Given the description of an element on the screen output the (x, y) to click on. 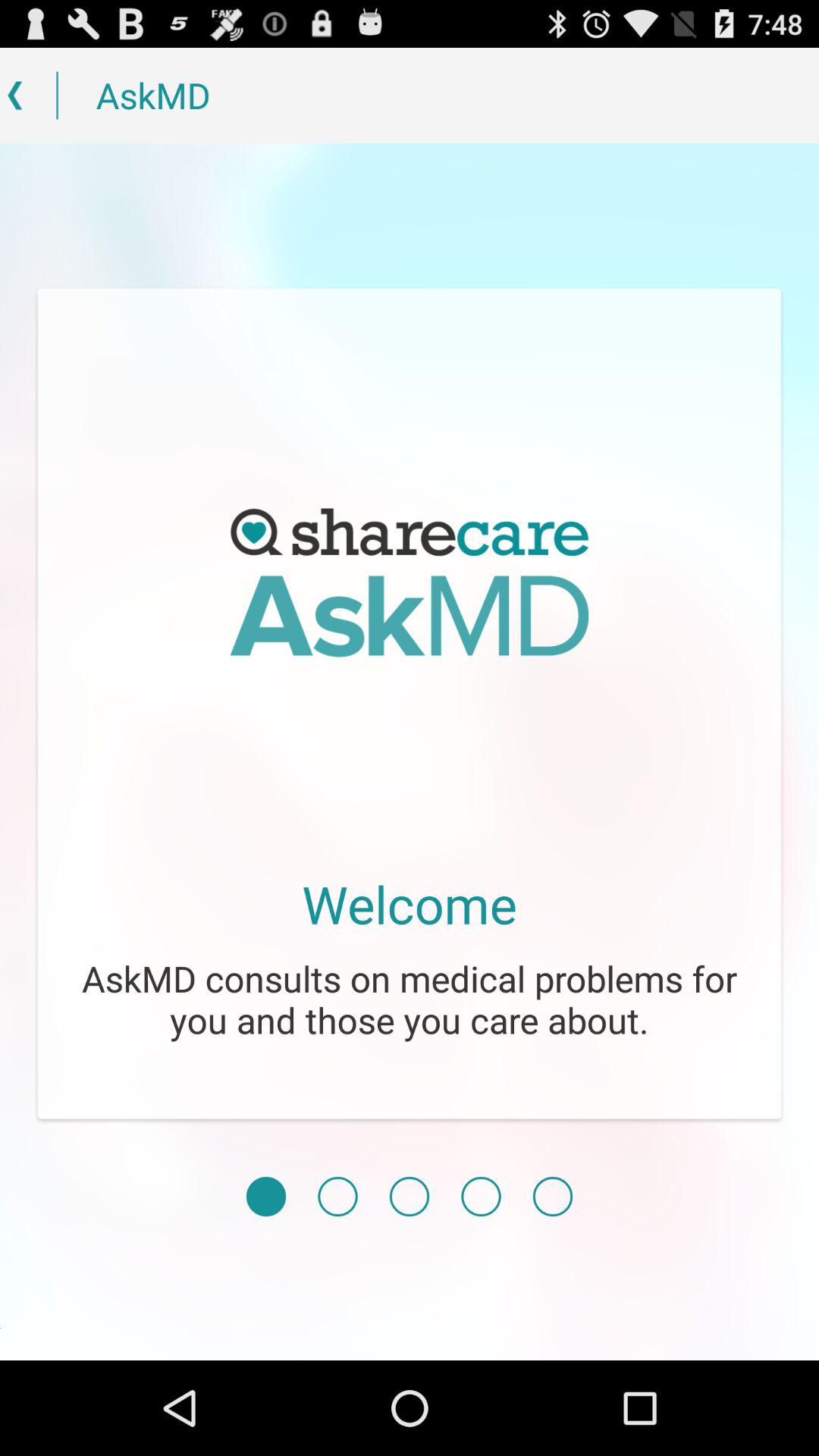
turn off item below askmd consults on (480, 1196)
